Given the description of an element on the screen output the (x, y) to click on. 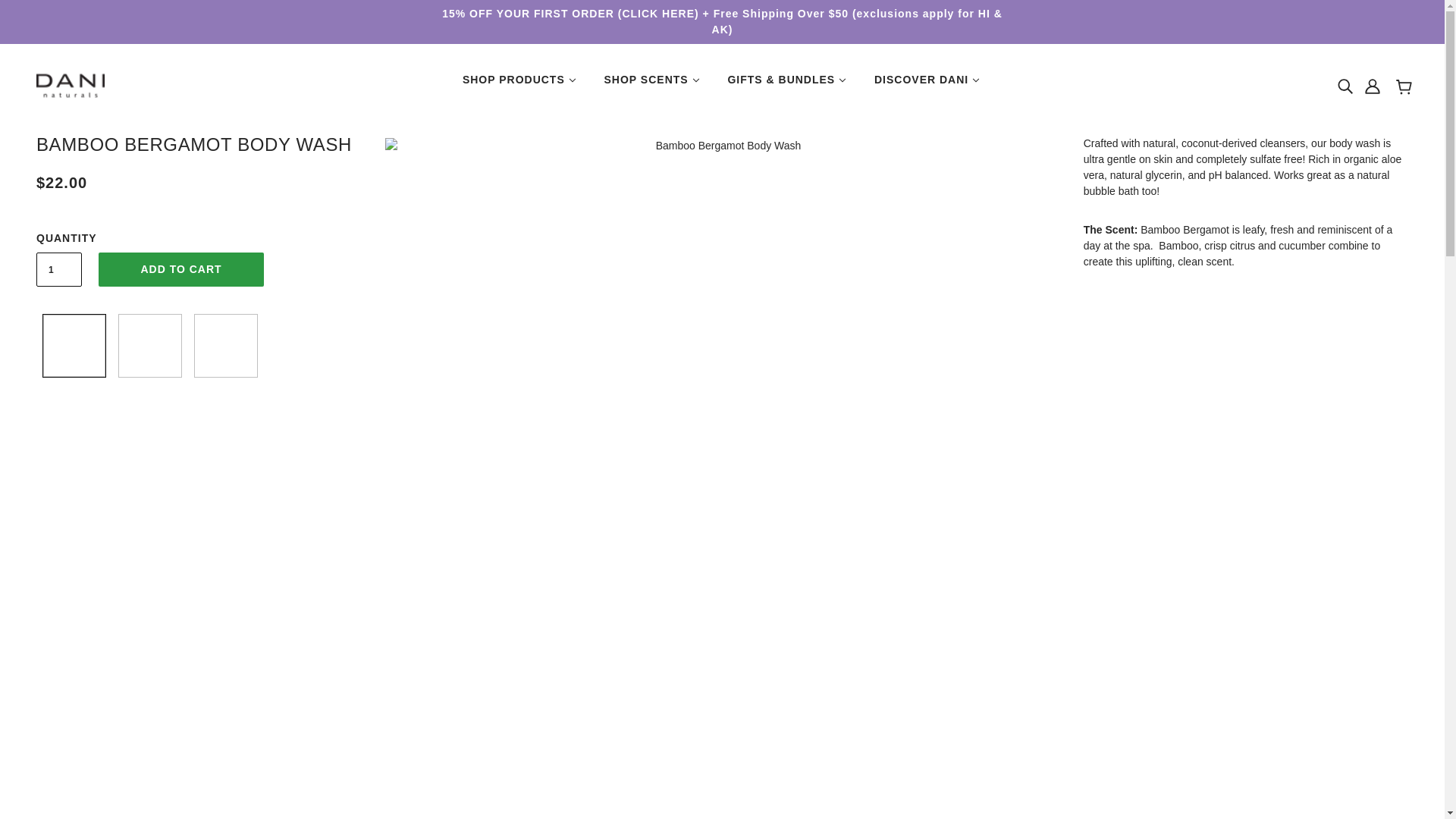
DANI Naturals (70, 84)
1 (58, 269)
